Given the description of an element on the screen output the (x, y) to click on. 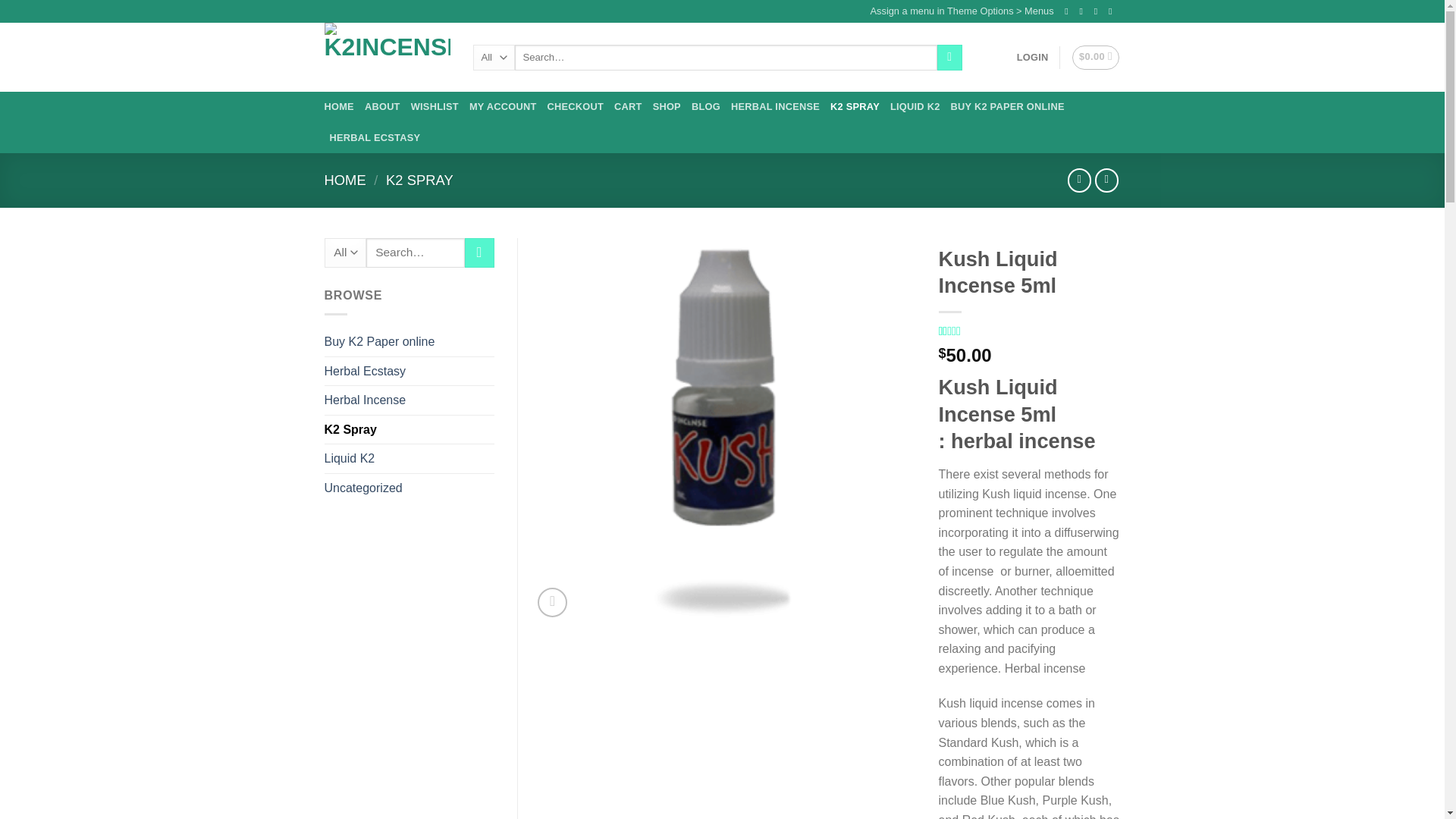
SHOP (666, 106)
LIQUID K2 (914, 106)
BLOG (705, 106)
k2incensespices.com (386, 56)
HOME (345, 179)
ABOUT (382, 106)
HOME (338, 106)
BUY K2 PAPER ONLINE (1007, 106)
HERBAL INCENSE (774, 106)
LOGIN (1032, 57)
